Given the description of an element on the screen output the (x, y) to click on. 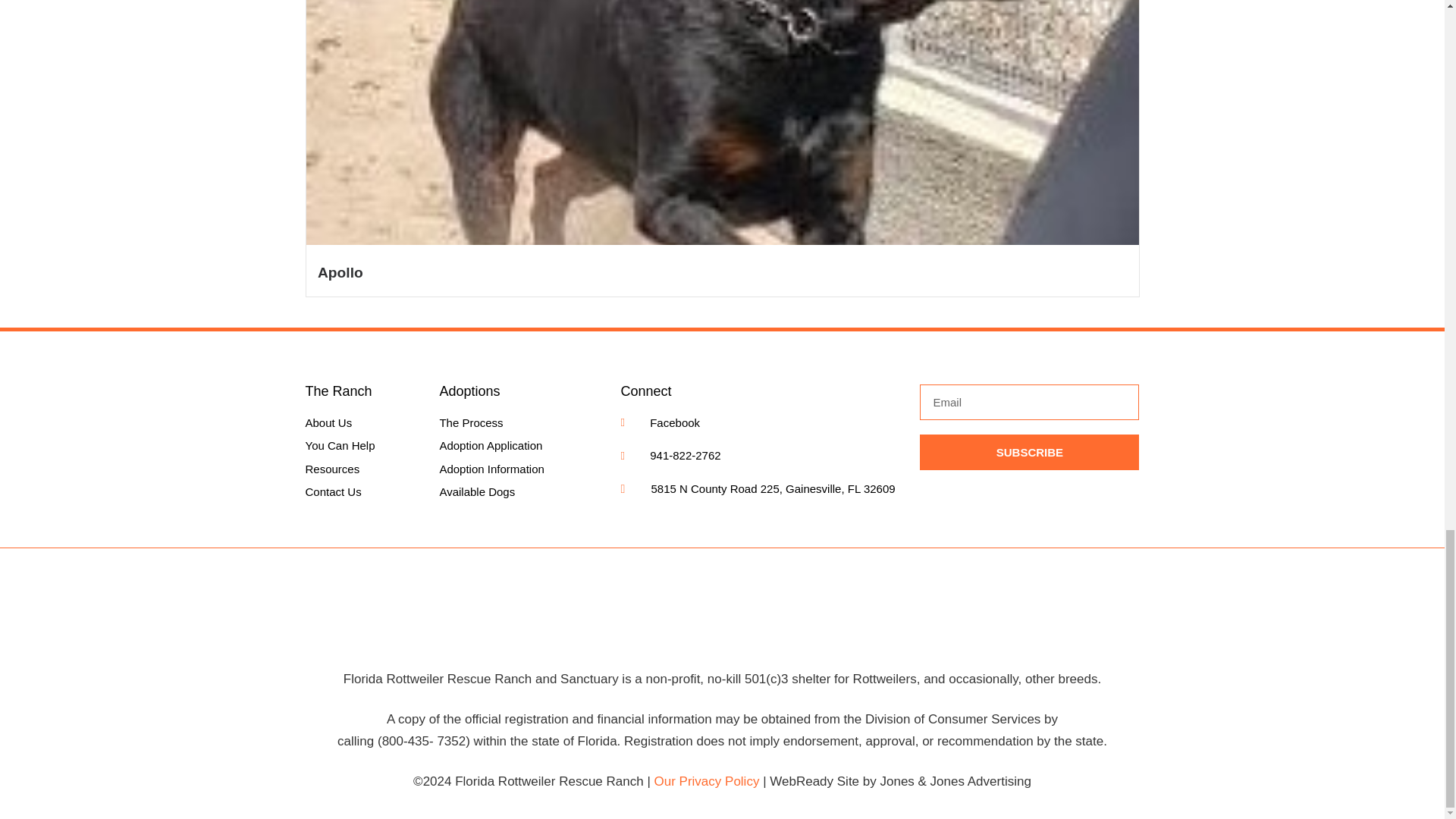
No Kill Shelter For White Background (721, 627)
Apollo (339, 272)
